Given the description of an element on the screen output the (x, y) to click on. 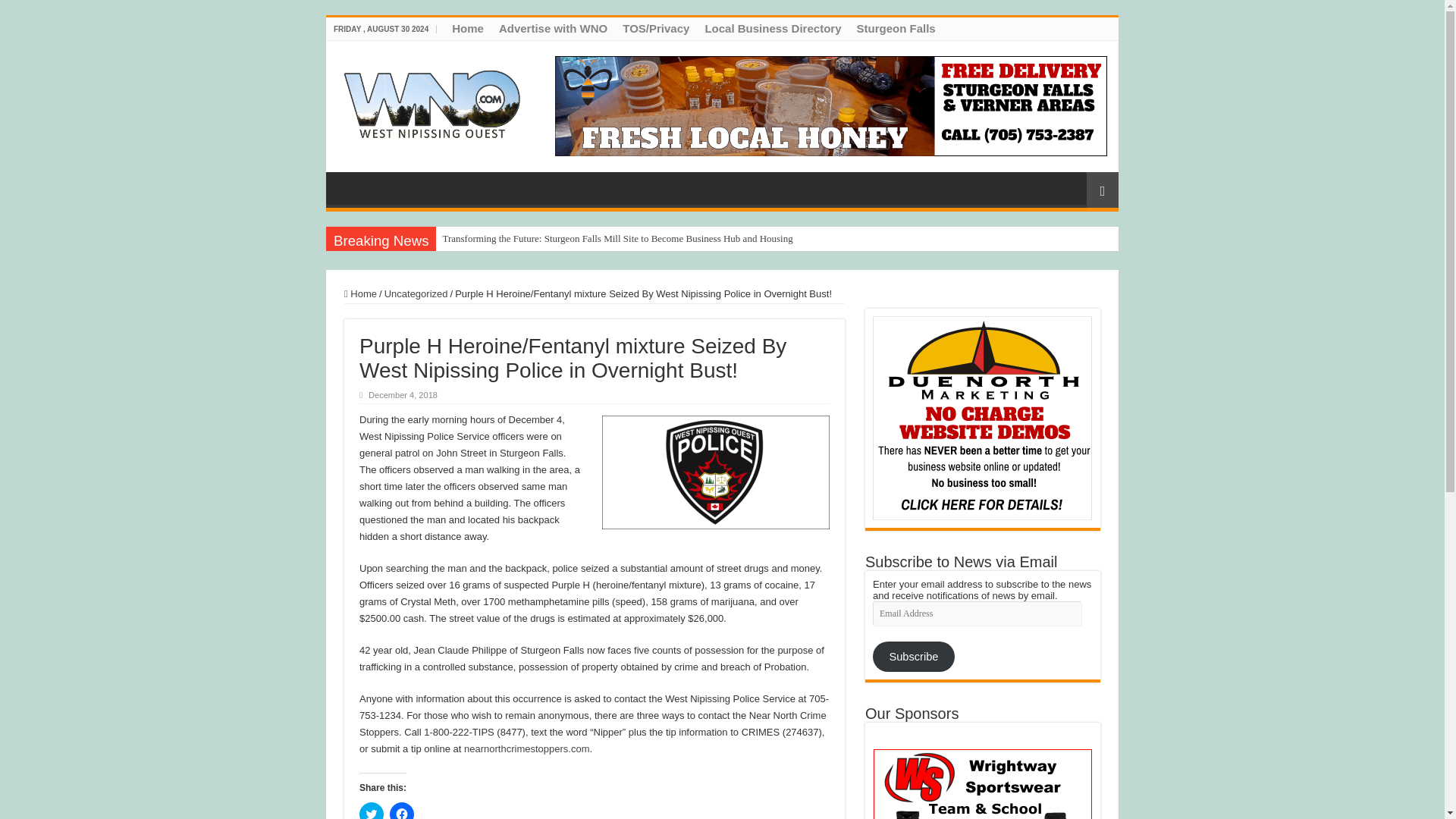
Local Business Directory (772, 28)
Advertise with WNO (553, 28)
Home (468, 28)
Random Article (1102, 189)
Uncategorized (416, 293)
Home (360, 293)
Sturgeon Falls (895, 28)
nearnorthcrimestoppers.com (526, 748)
Subscribe (913, 656)
